Given the description of an element on the screen output the (x, y) to click on. 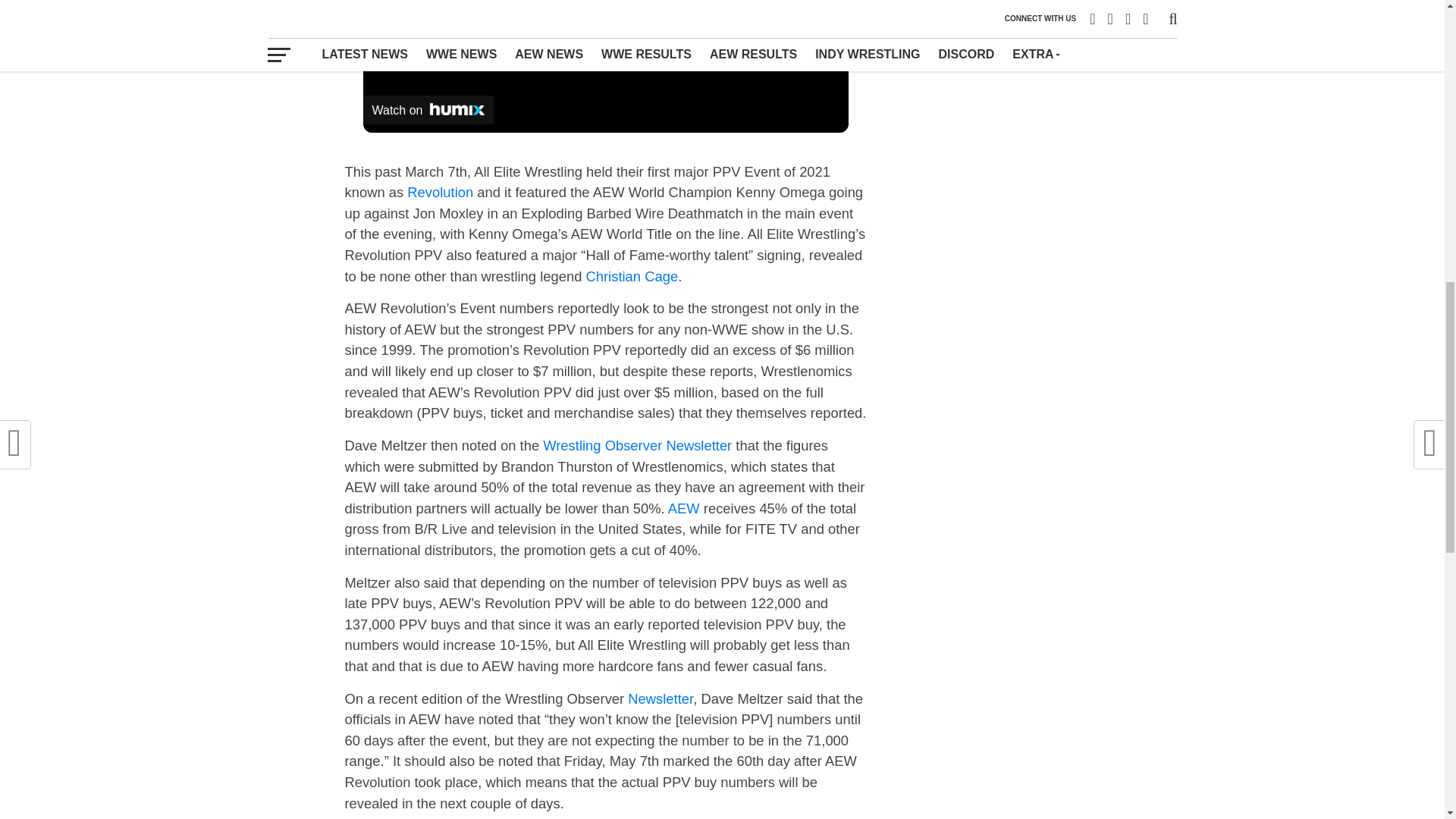
Newsletter (660, 698)
AEW (684, 508)
Christian Cage Makes His AEW In-Ring Debut On Dynamite (631, 276)
AEW Revolution 2021 Results: Winners, Grades, Highlights (440, 191)
